Given the description of an element on the screen output the (x, y) to click on. 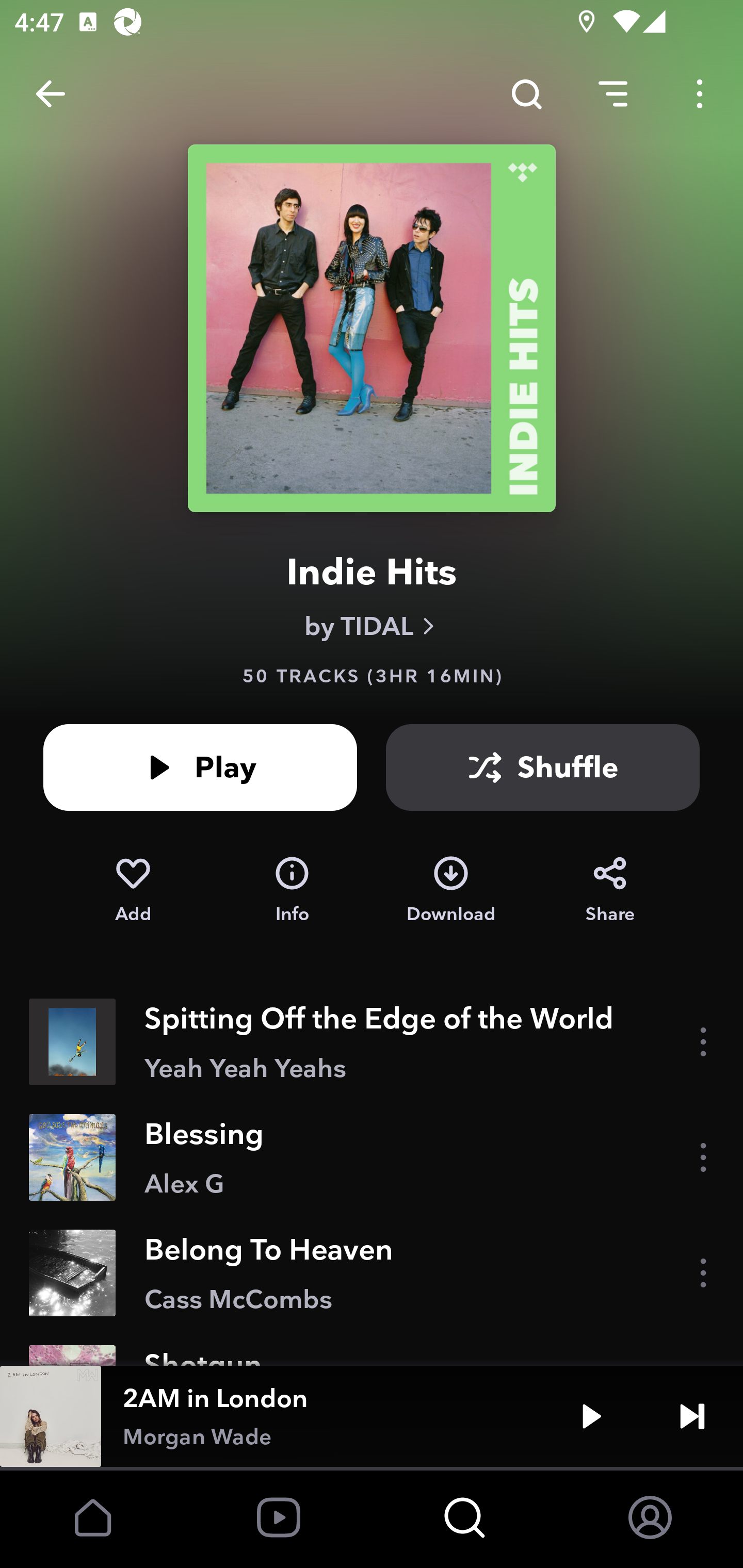
Back (50, 93)
Search (525, 93)
Sorting (612, 93)
Options (699, 93)
by TIDAL (371, 625)
Play (200, 767)
Shuffle (542, 767)
Add (132, 890)
Info (291, 890)
Download (450, 890)
Share (609, 890)
Spitting Off the Edge of the World Yeah Yeah Yeahs (371, 1041)
Blessing Alex G (371, 1157)
Belong To Heaven Cass McCombs (371, 1273)
2AM in London Morgan Wade Play (371, 1416)
Play (590, 1416)
